Given the description of an element on the screen output the (x, y) to click on. 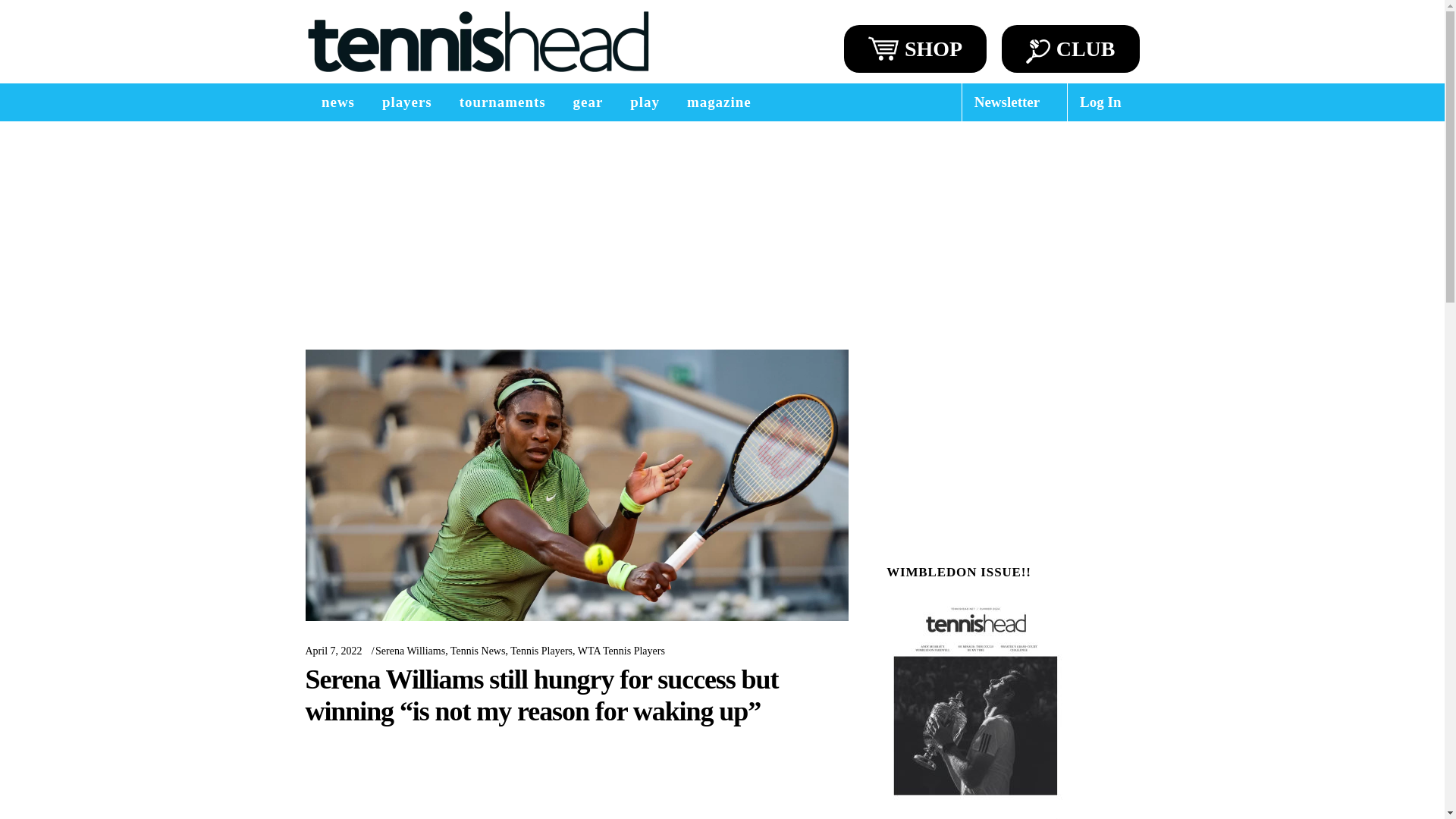
players (406, 102)
CLUB (1070, 48)
tournaments (502, 102)
gear (588, 102)
play (643, 102)
SHOP (915, 48)
news (337, 102)
